Given the description of an element on the screen output the (x, y) to click on. 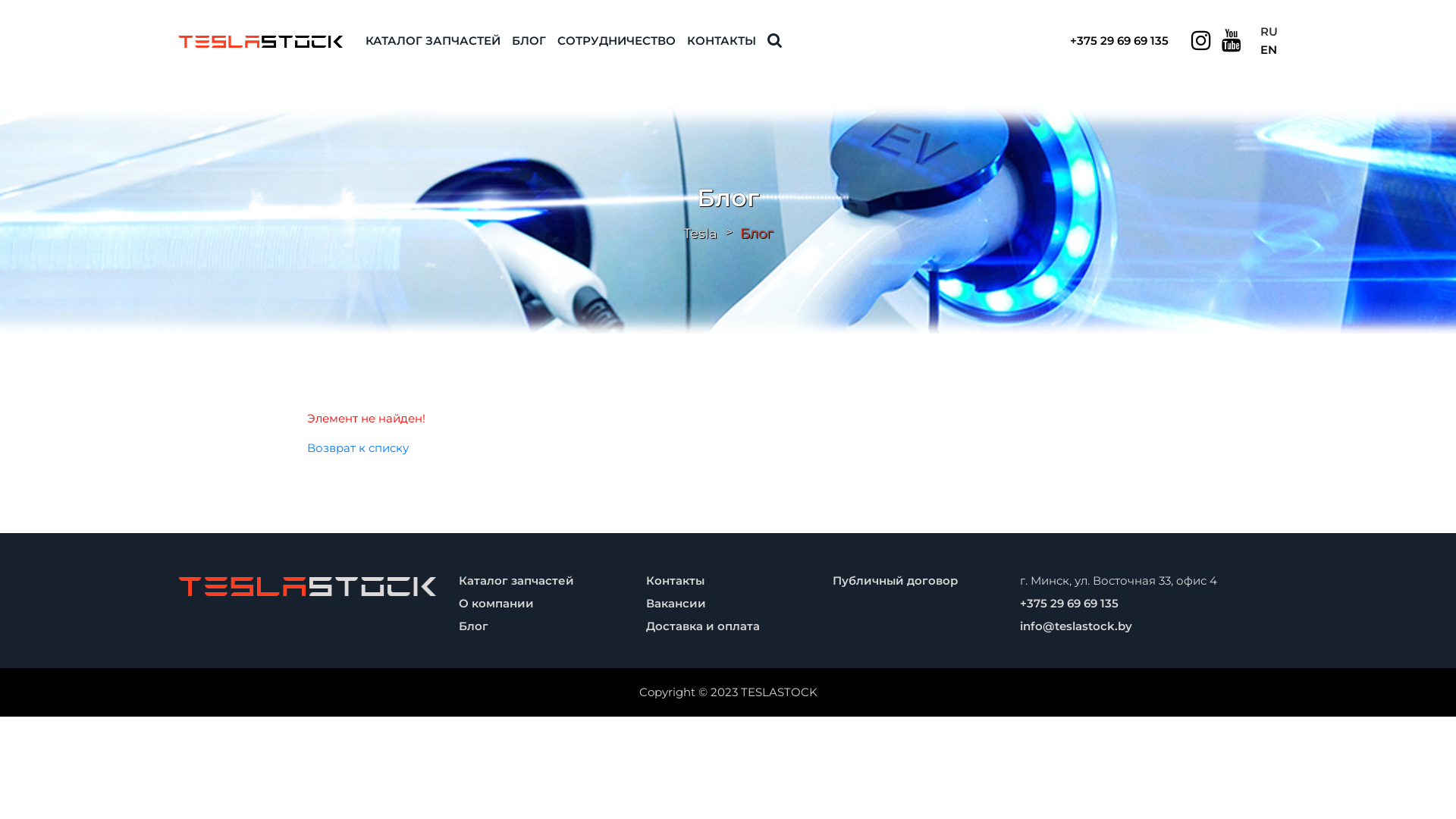
EN Element type: text (1268, 49)
info@teslastock.by Element type: text (1075, 625)
+375 29 69 69 135 Element type: text (1119, 40)
Tesla Element type: text (699, 232)
+375 29 69 69 135 Element type: text (1068, 603)
